Given the description of an element on the screen output the (x, y) to click on. 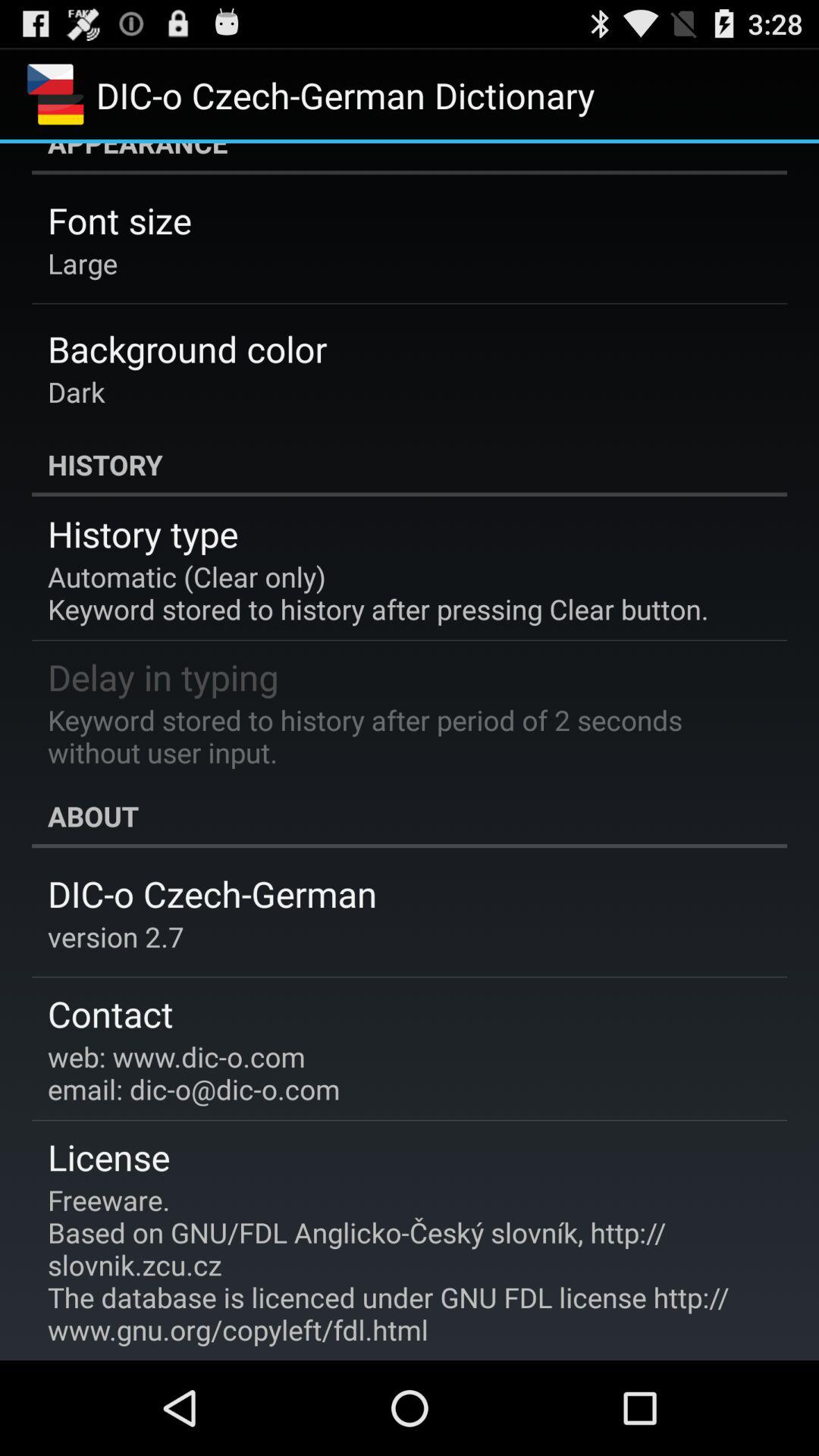
swipe to the about (409, 816)
